Given the description of an element on the screen output the (x, y) to click on. 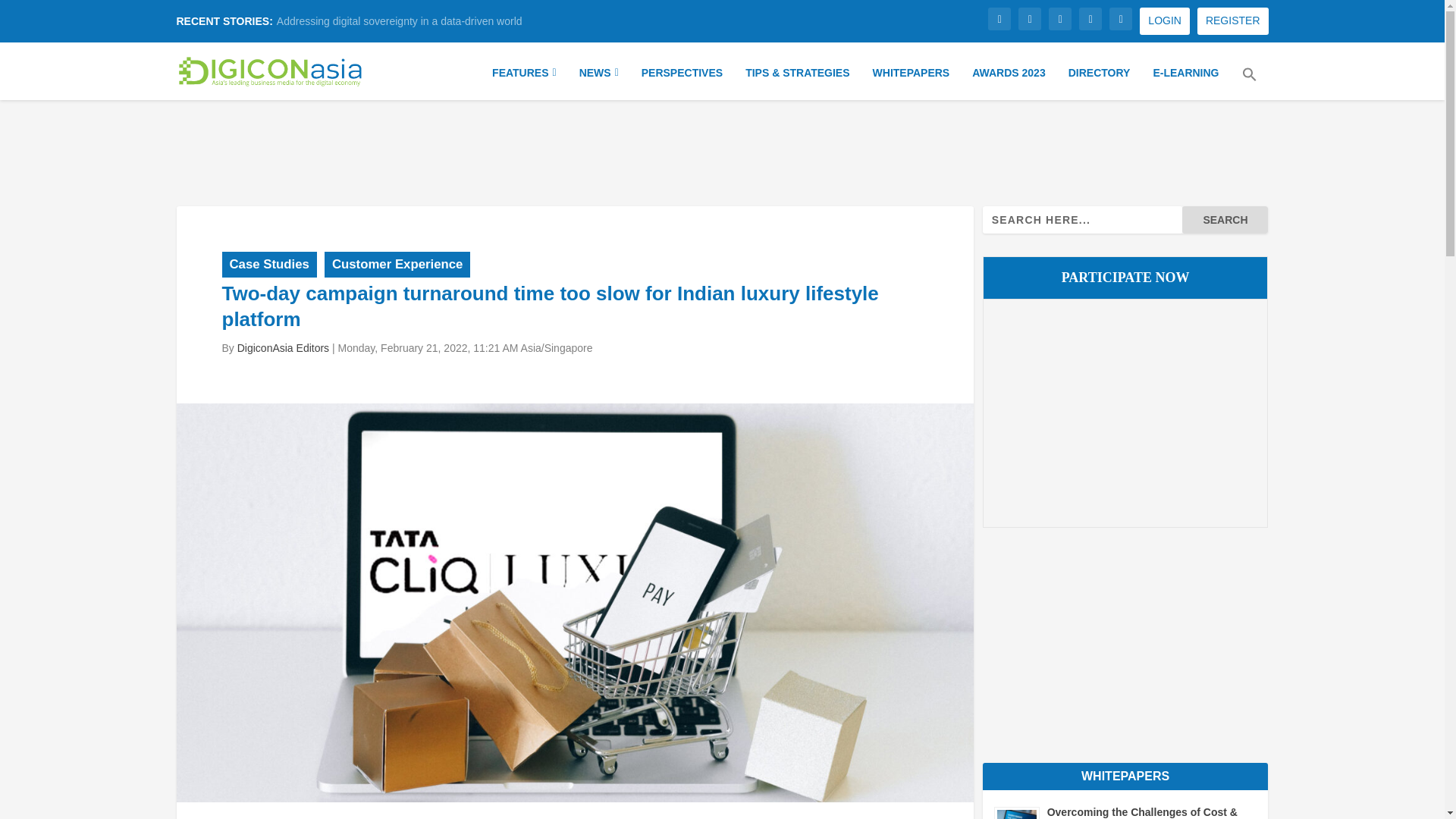
Search (1225, 219)
LOGIN (1164, 21)
3rd party ad content (722, 150)
Addressing digital sovereignty in a data-driven world (399, 21)
NEWS (598, 80)
WHITEPAPERS (911, 80)
AWARDS 2023 (1008, 80)
REGISTER (1232, 21)
PERSPECTIVES (682, 80)
DIRECTORY (1099, 80)
